Given the description of an element on the screen output the (x, y) to click on. 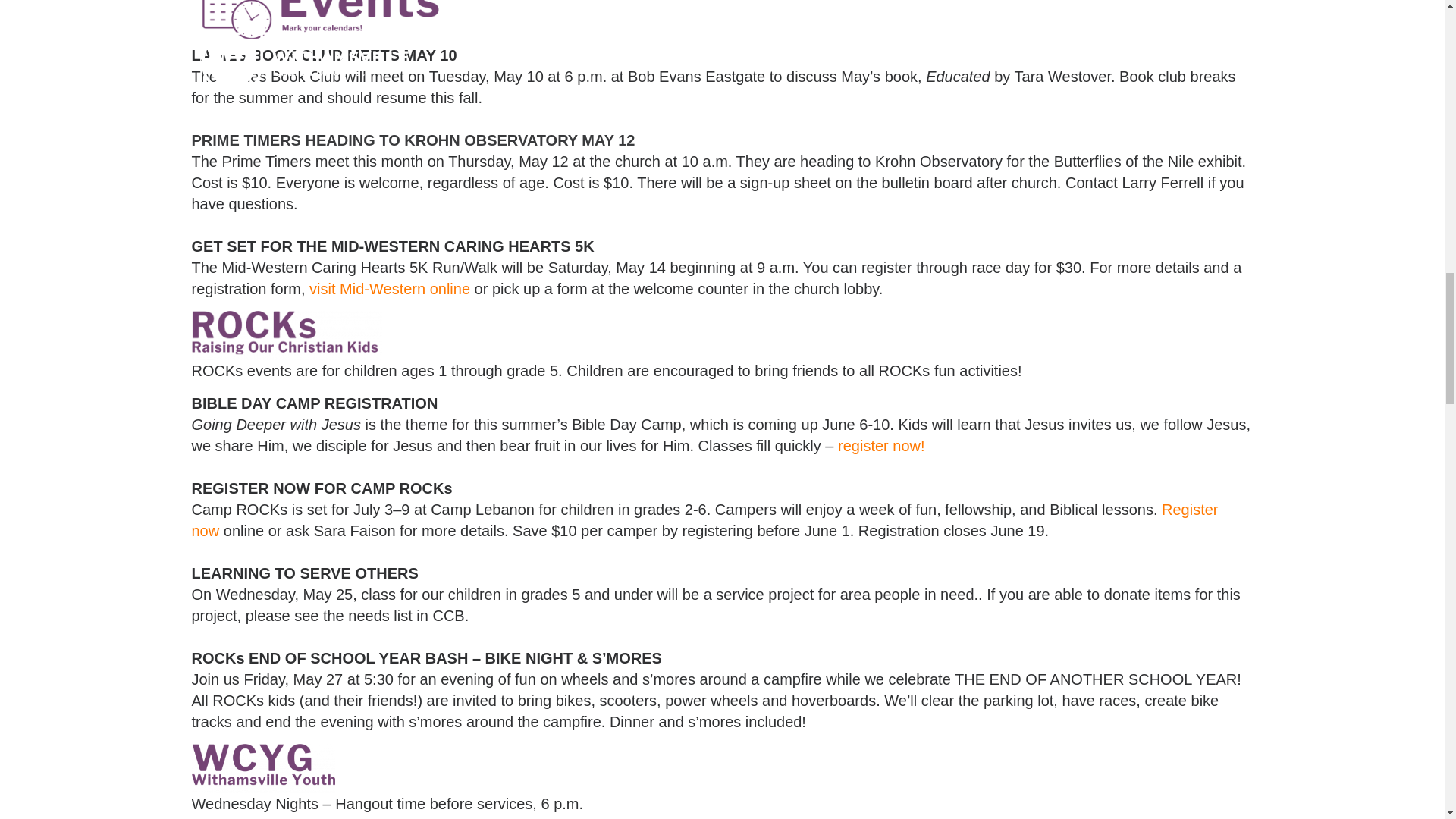
register now! (881, 445)
Register now (703, 519)
visit Mid-Western online (389, 288)
